Given the description of an element on the screen output the (x, y) to click on. 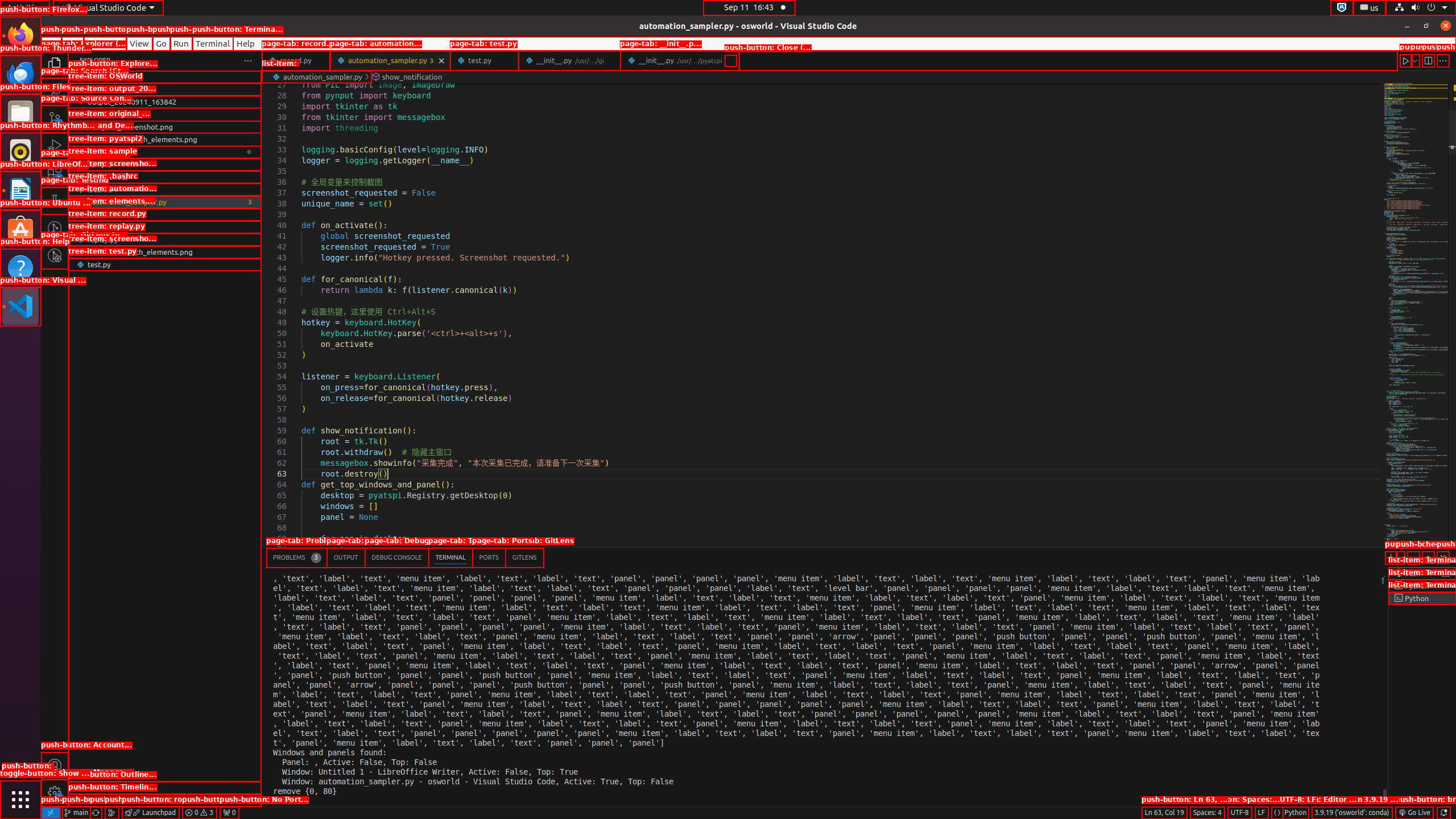
Spaces: 4 Element type: push-button (1206, 812)
automation_sampler.py Element type: tree-item (164, 201)
Extensions (Ctrl+Shift+X) - 2 require update Element type: page-tab (54, 173)
